Given the description of an element on the screen output the (x, y) to click on. 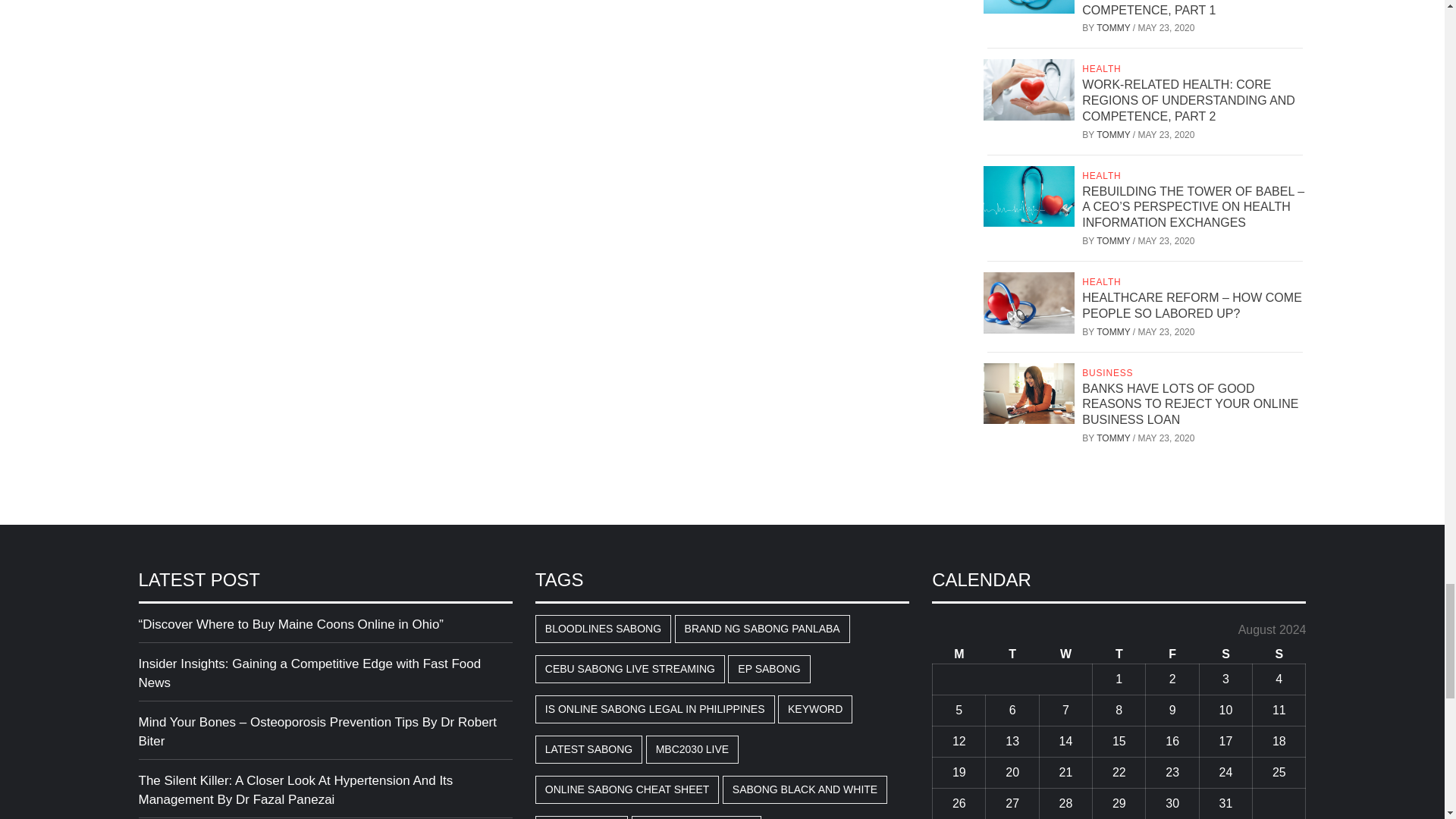
Tuesday (1012, 654)
Saturday (1225, 654)
Sunday (1279, 654)
Friday (1171, 654)
Monday (959, 654)
Thursday (1119, 654)
Wednesday (1065, 654)
